Given the description of an element on the screen output the (x, y) to click on. 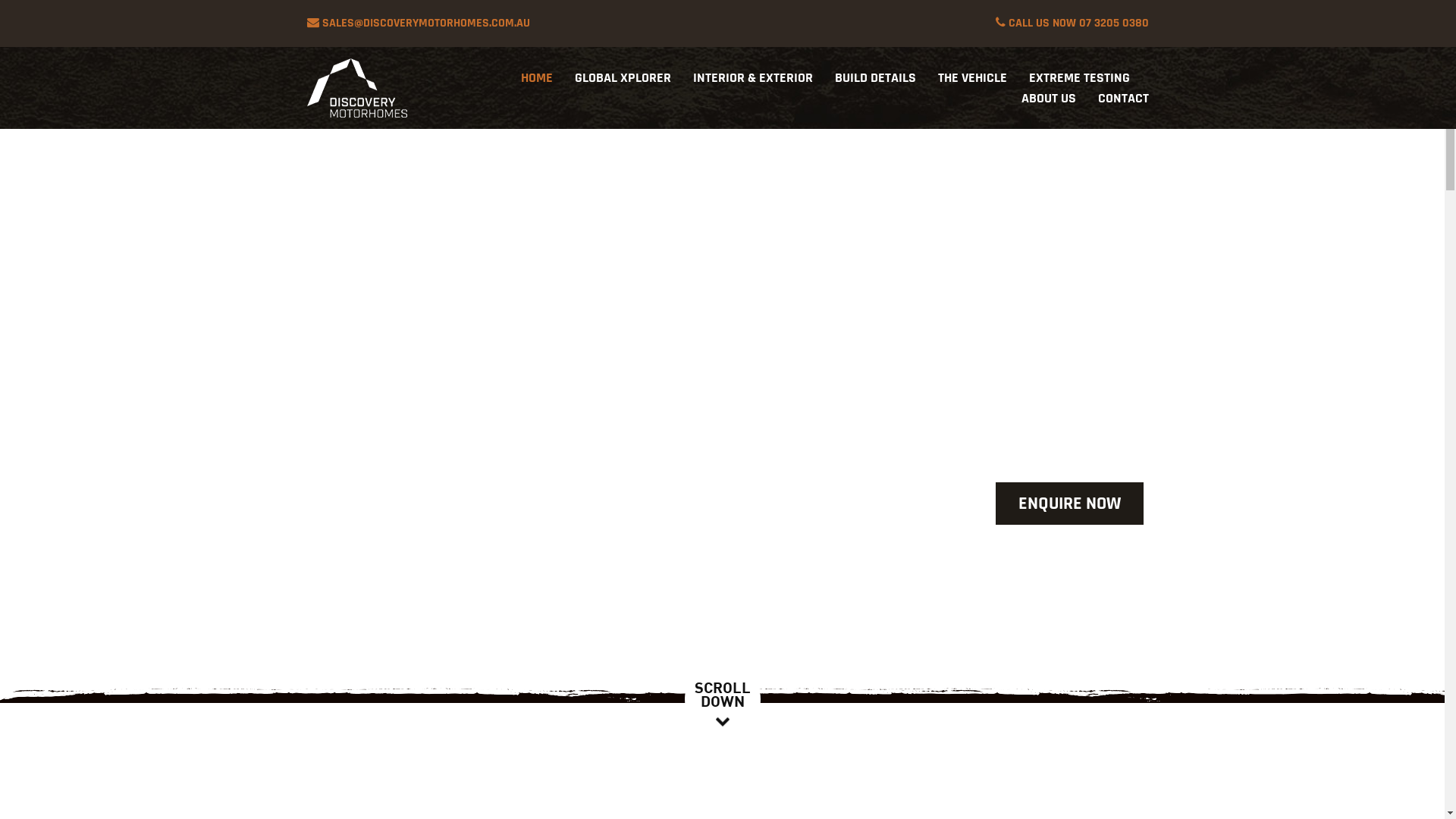
CONTACT Element type: text (1123, 97)
ABOUT US Element type: text (1048, 97)
SALES@DISCOVERYMOTORHOMES.COM.AU Element type: text (418, 23)
EXTREME TESTING Element type: text (1079, 77)
CALL US NOW  07 3205 0380 Element type: text (1071, 23)
THE VEHICLE Element type: text (972, 77)
SCROLL DOWN Element type: text (721, 699)
HOME Element type: text (536, 77)
ENQUIRE NOW Element type: text (1068, 503)
GLOBAL XPLORER Element type: text (622, 77)
INTERIOR & EXTERIOR Element type: text (752, 77)
BUILD DETAILS Element type: text (875, 77)
